Given the description of an element on the screen output the (x, y) to click on. 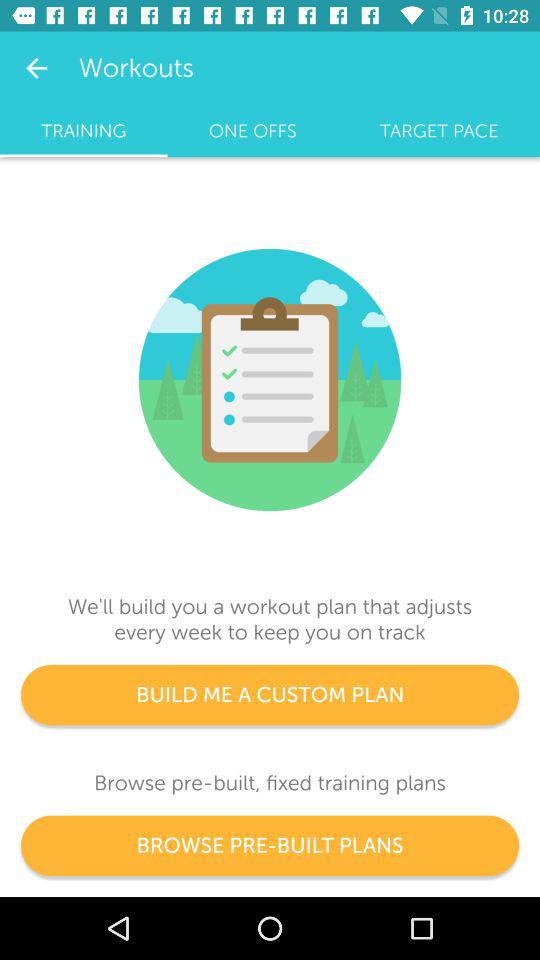
select item at the top right corner (439, 131)
